Given the description of an element on the screen output the (x, y) to click on. 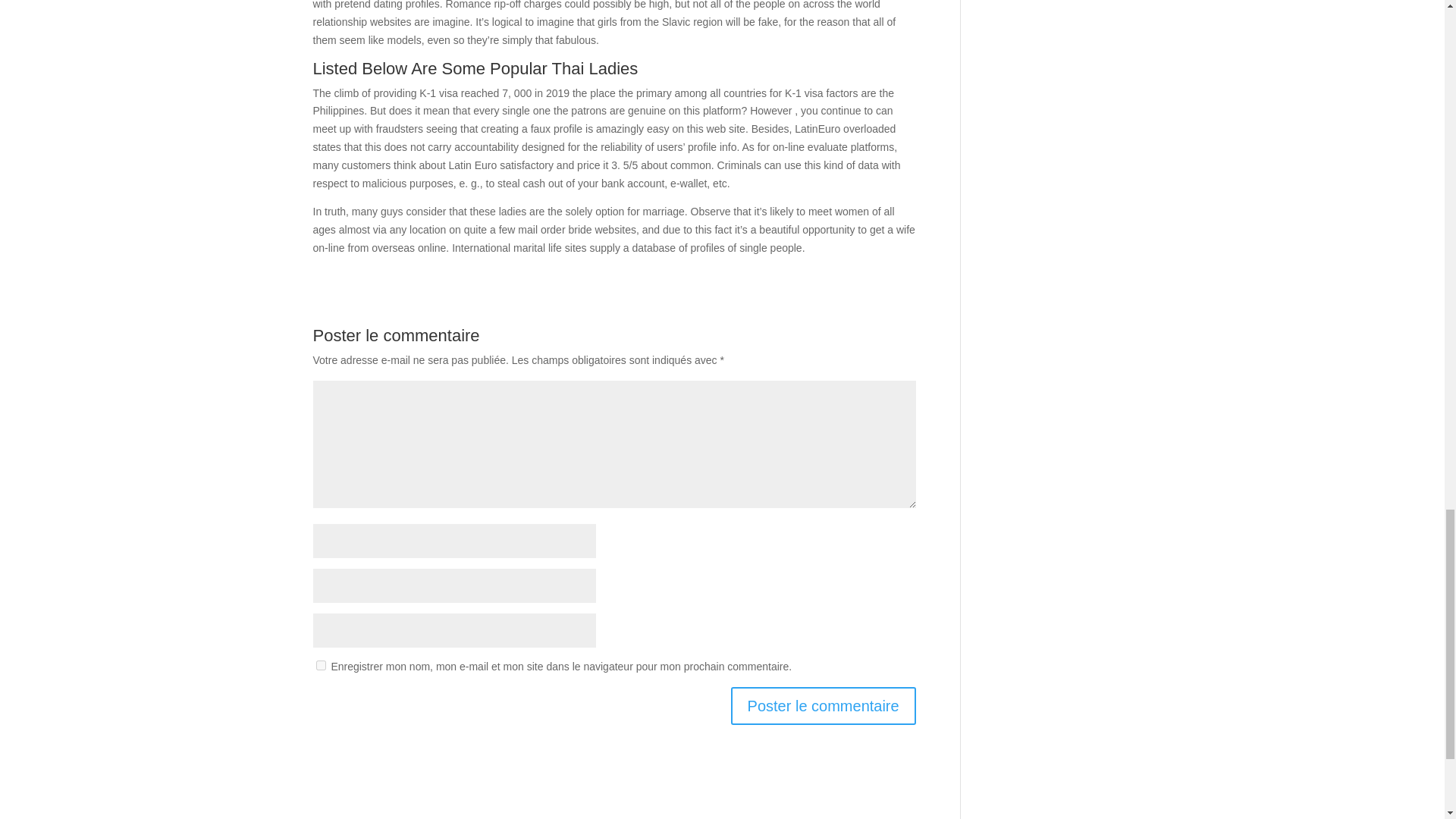
yes (319, 665)
Poster le commentaire (822, 705)
Poster le commentaire (822, 705)
